Given the description of an element on the screen output the (x, y) to click on. 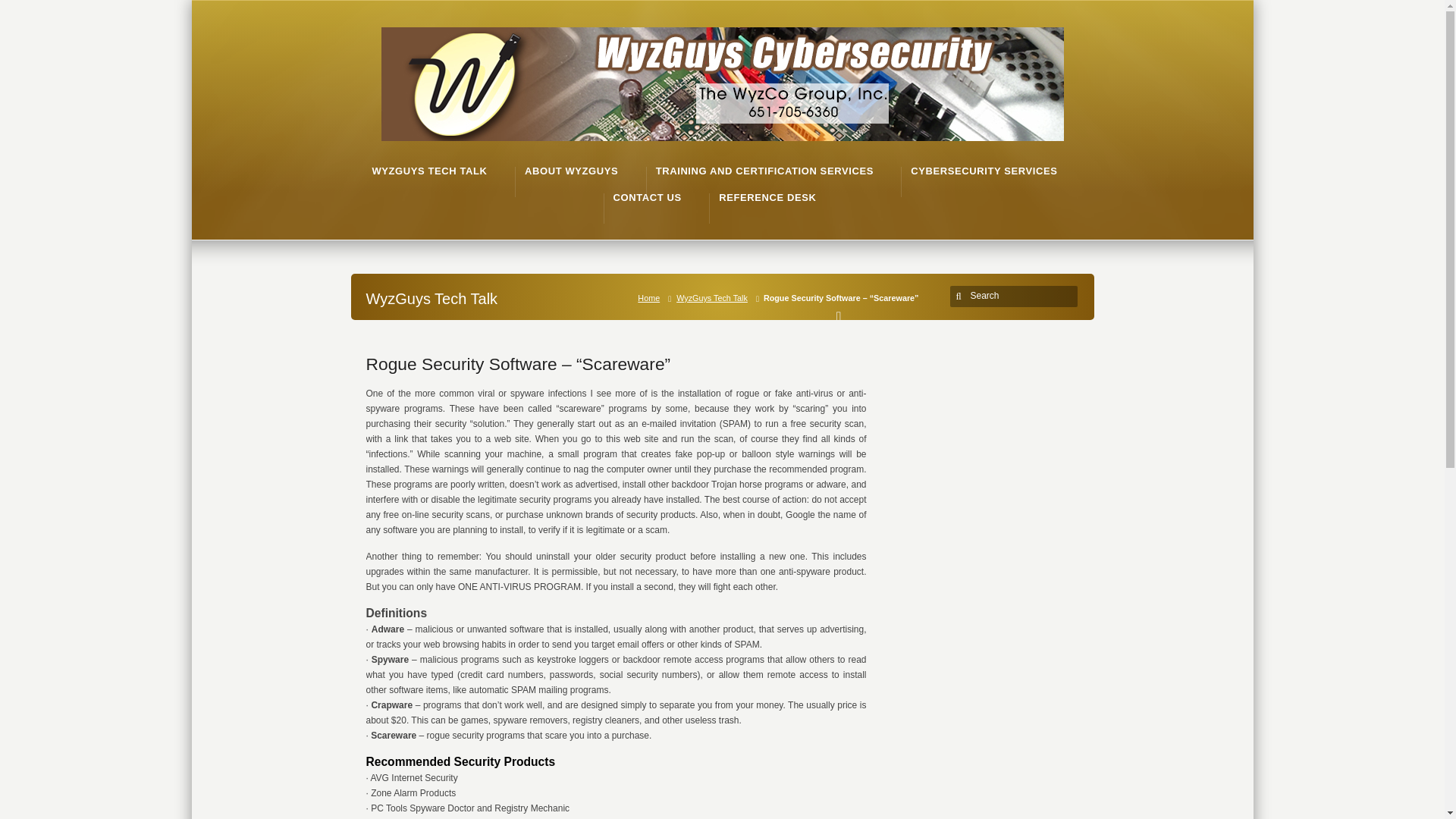
WYZGUYS TECH TALK (428, 171)
TRAINING AND CERTIFICATION SERVICES (764, 171)
Search (1016, 295)
CYBERSECURITY SERVICES (984, 171)
ABOUT WYZGUYS (570, 171)
REFERENCE DESK (767, 197)
CONTACT US (646, 197)
WyzGuys Tech Talk (714, 297)
Home (651, 297)
